Given the description of an element on the screen output the (x, y) to click on. 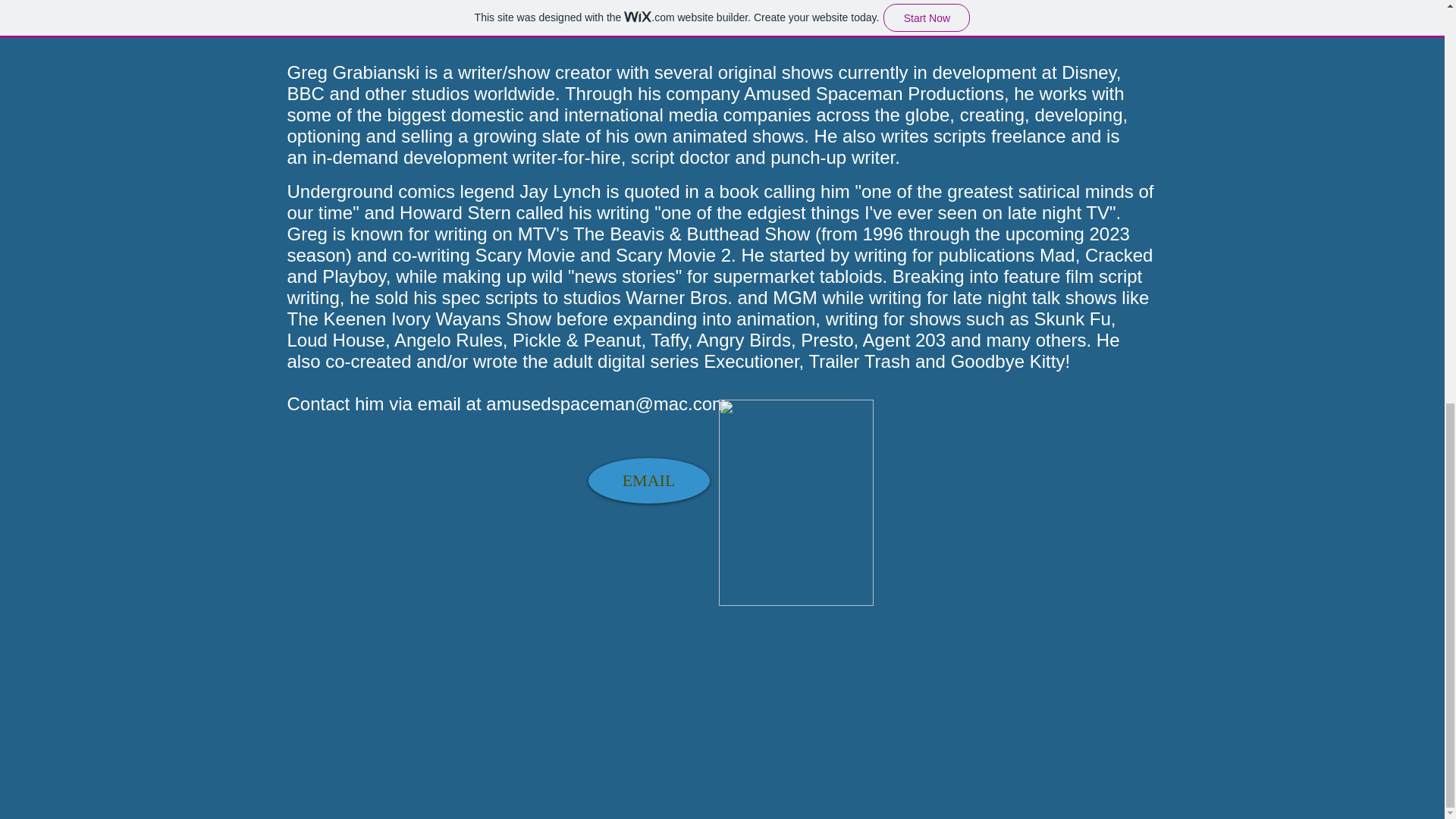
EMAIL (649, 480)
